Given the description of an element on the screen output the (x, y) to click on. 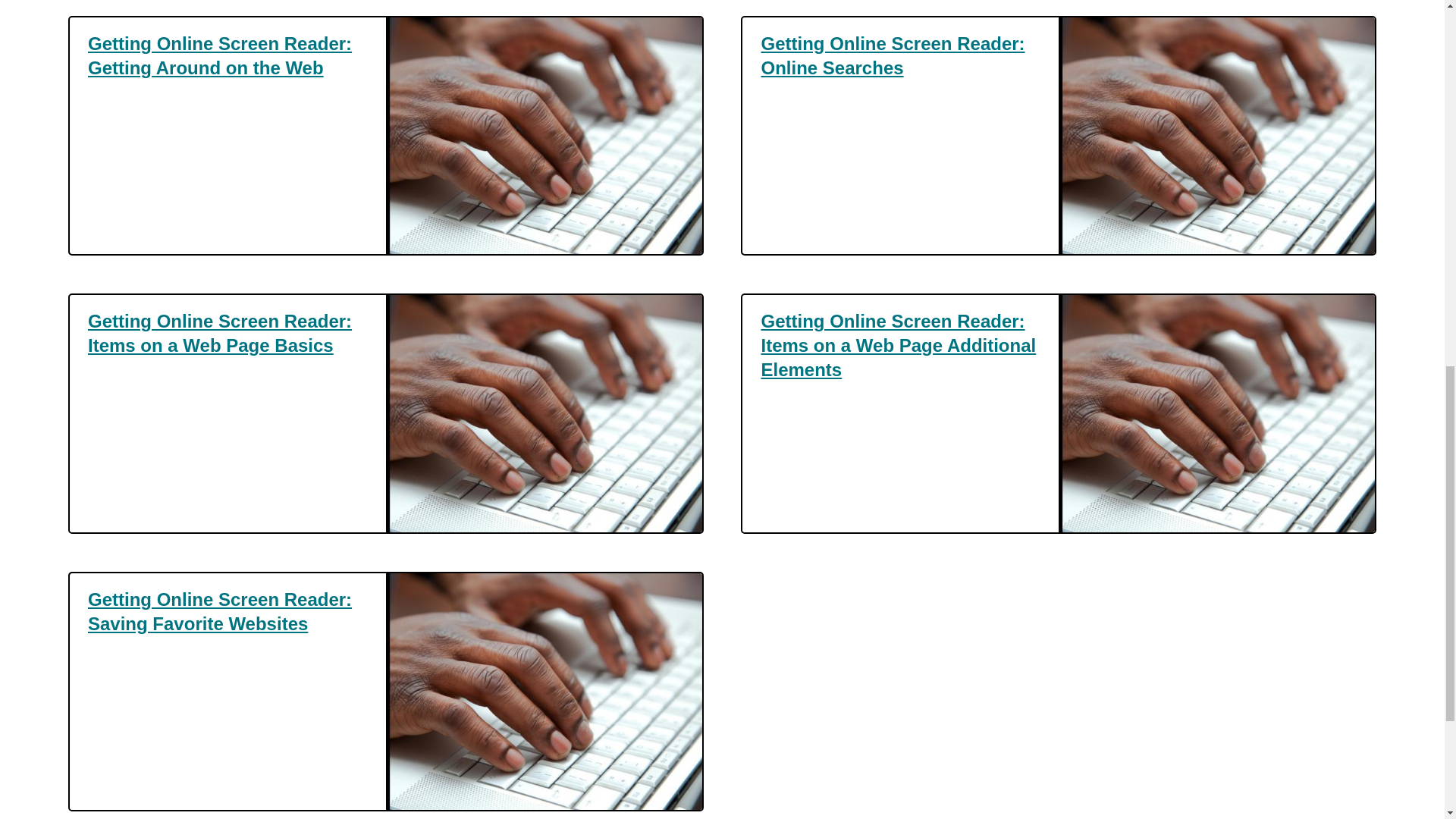
Getting Online Screen Reader: Items on a Web Page Basics (227, 333)
Getting Online Screen Reader: Online Searches (900, 55)
Getting Online Screen Reader: Saving Favorite Websites (227, 612)
Getting Online Screen Reader: Getting Around on the Web (227, 55)
